Given the description of an element on the screen output the (x, y) to click on. 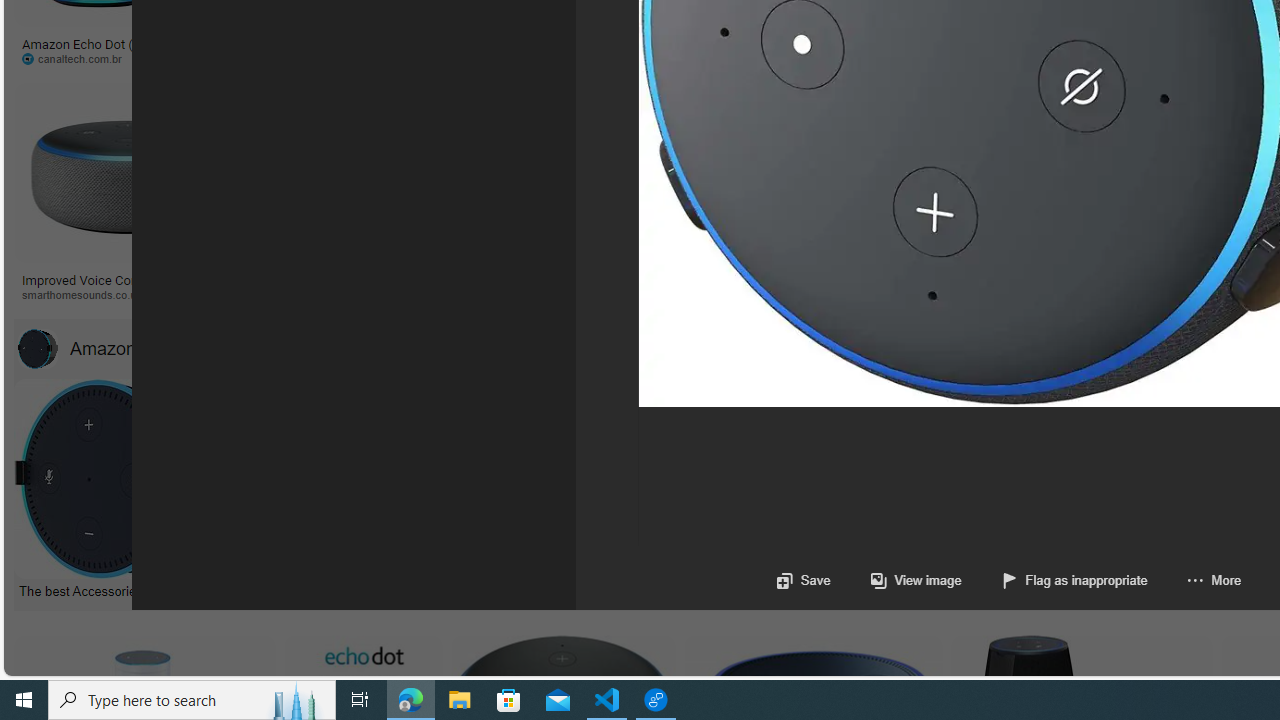
Best Amazon Echo Accessories - Tech Advisor (534, 589)
Image result for Amazon Echo Dot PNG (944, 172)
More (1193, 580)
pricehistoryapp.com (486, 57)
Flag as inappropriate (1074, 580)
Android Central (726, 295)
